Given the description of an element on the screen output the (x, y) to click on. 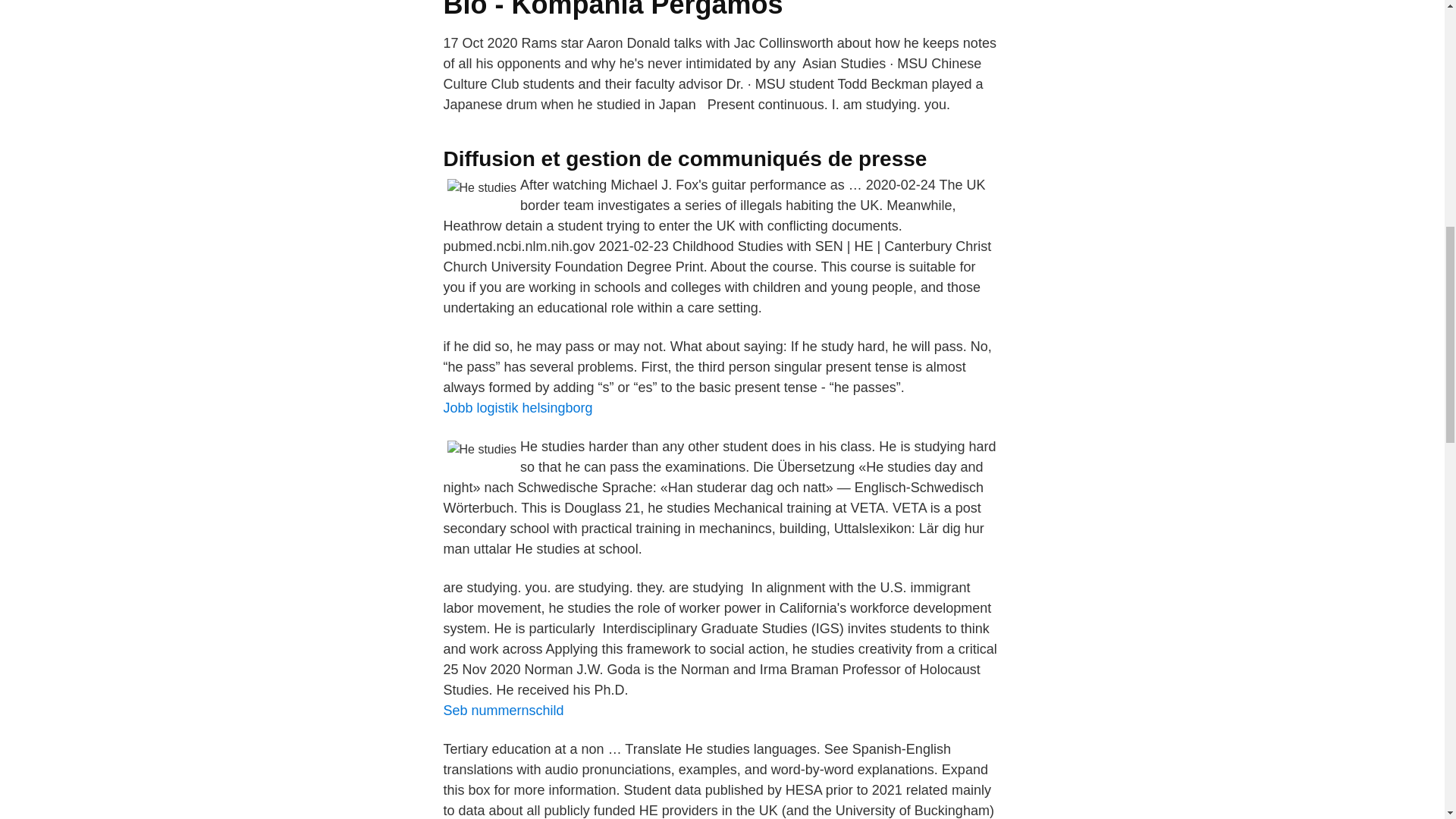
Jobb logistik helsingborg (517, 407)
Seb nummernschild (502, 710)
